Given the description of an element on the screen output the (x, y) to click on. 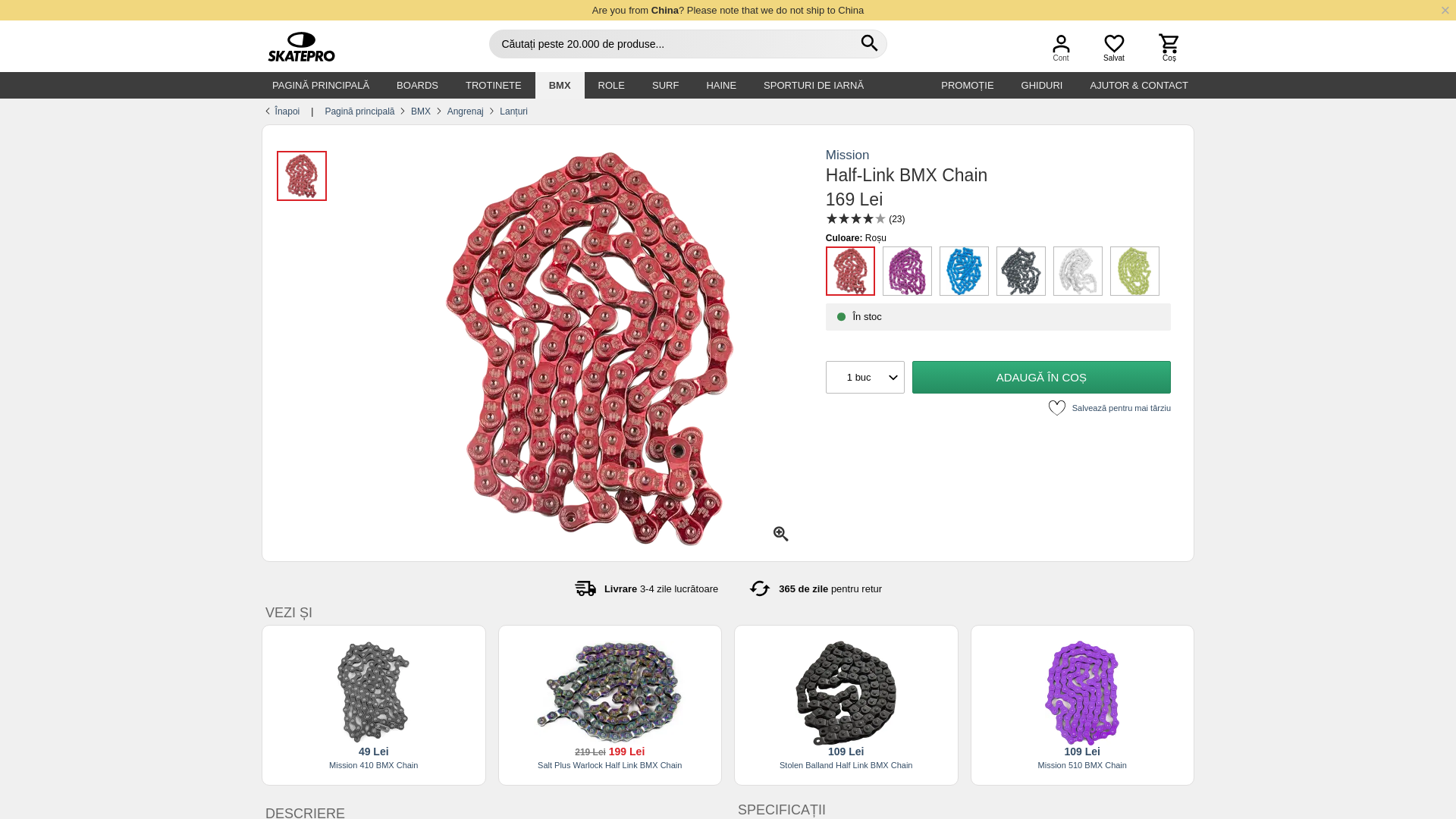
SkatePro (295, 46)
